Given the description of an element on the screen output the (x, y) to click on. 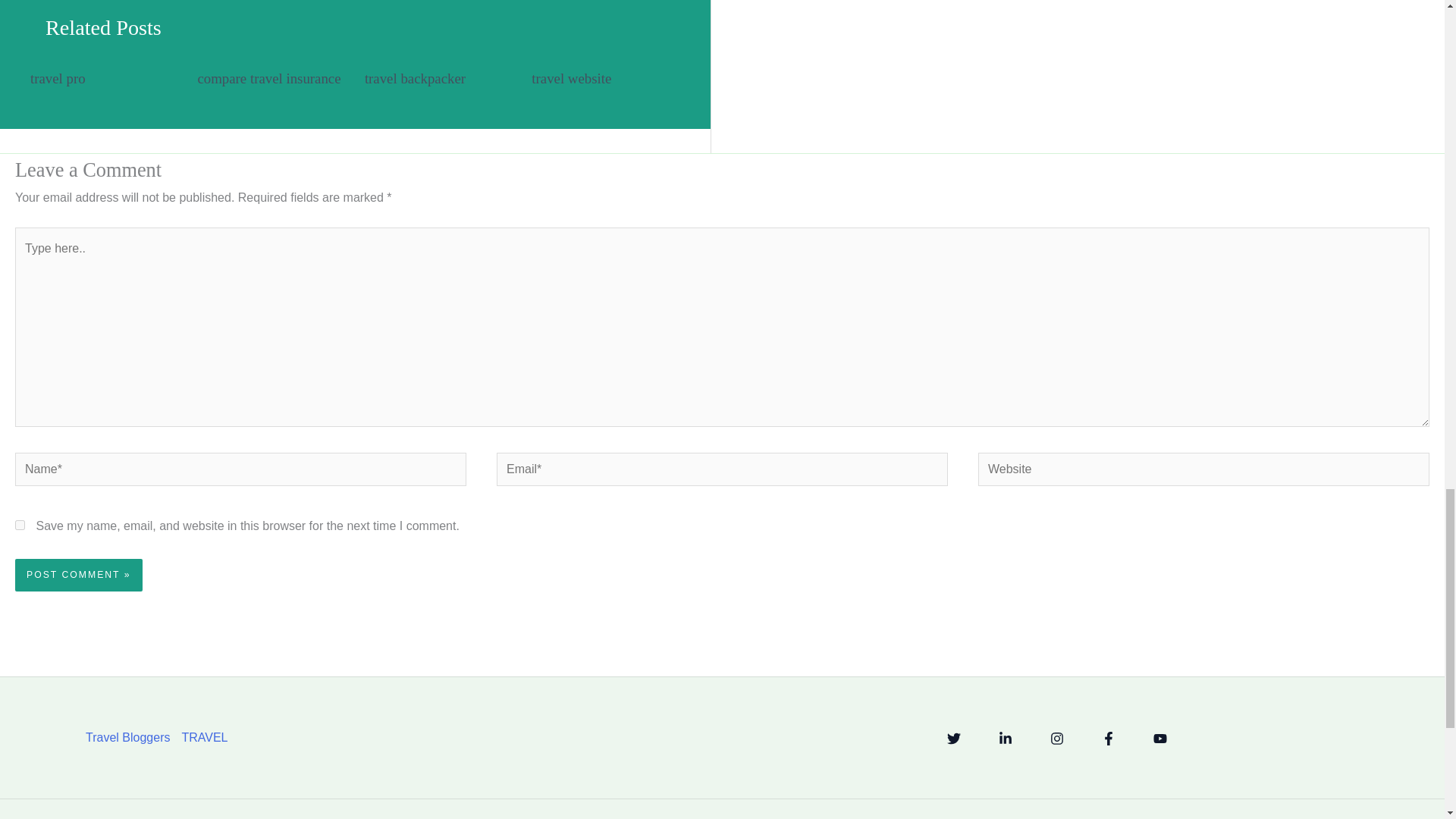
compare travel insurance (268, 78)
travel website (571, 78)
travel backpacker (415, 78)
travel pro (57, 78)
yes (19, 524)
